Given the description of an element on the screen output the (x, y) to click on. 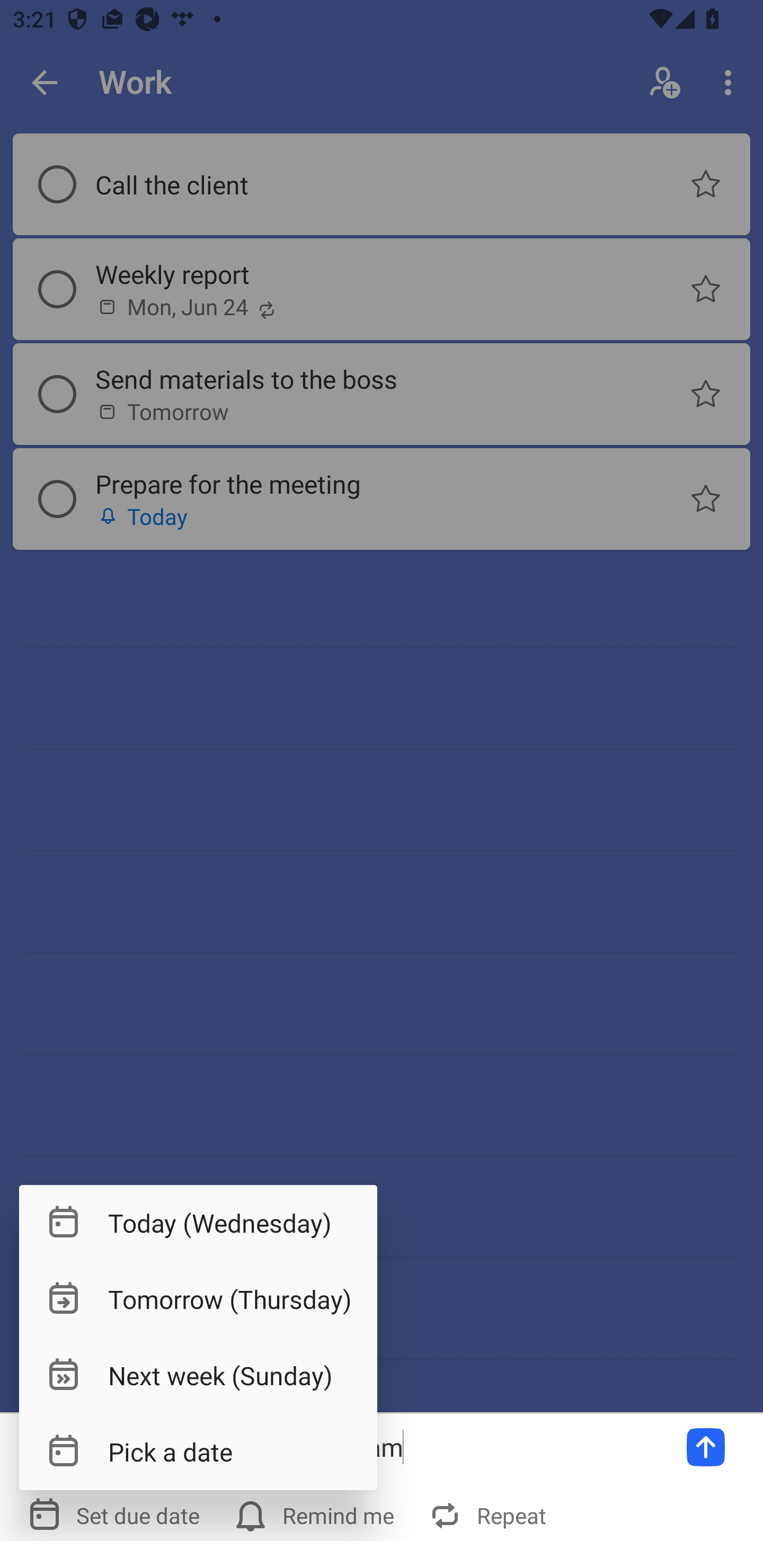
Pick a date4 in 4 Pick a date (197, 1451)
